Given the description of an element on the screen output the (x, y) to click on. 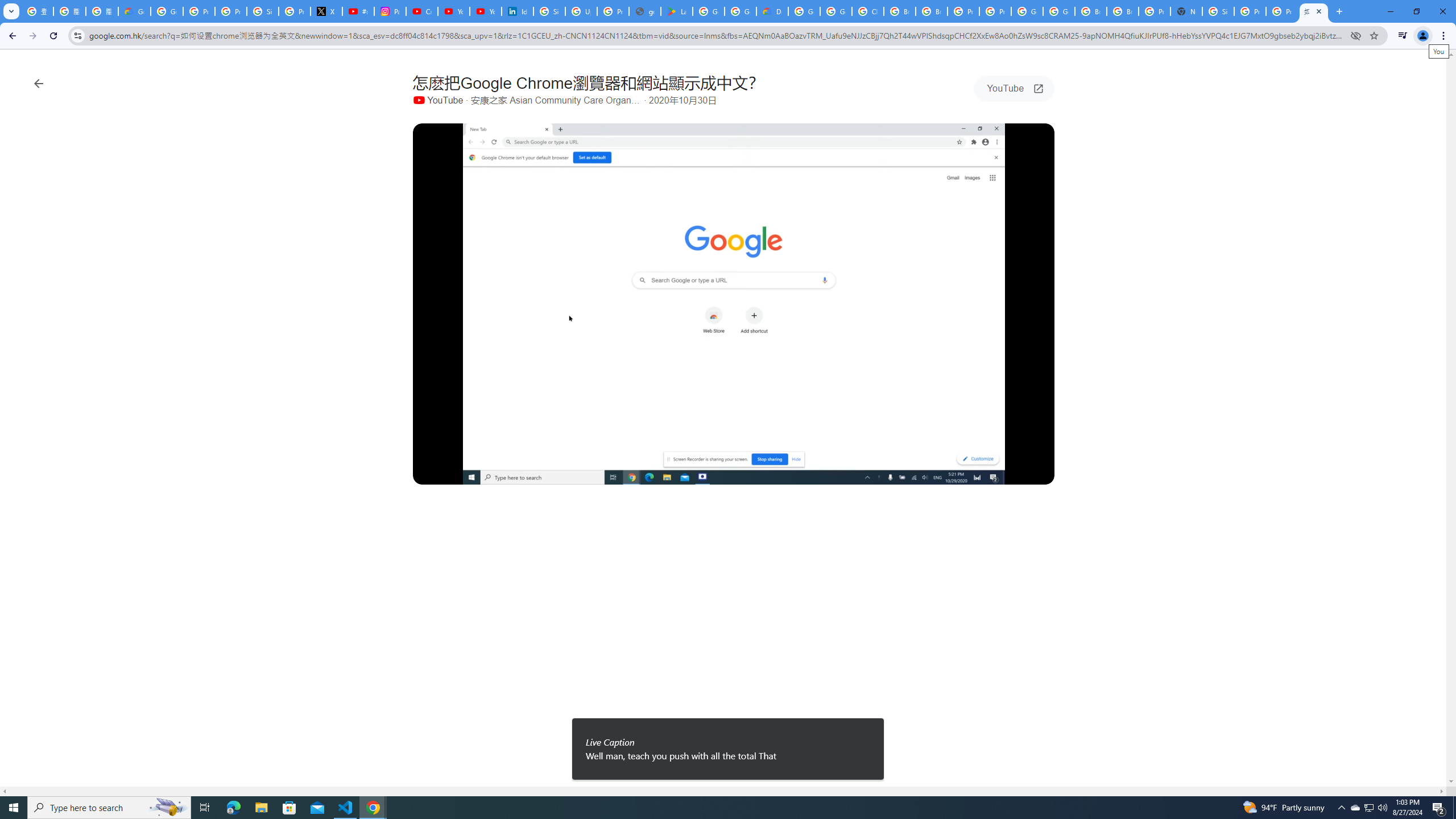
Browse Chrome as a guest - Computer - Google Chrome Help (899, 11)
Forward (32, 35)
Identity verification via Persona | LinkedIn Help (517, 11)
System (6, 6)
Sign in - Google Accounts (262, 11)
X (326, 11)
Browse Chrome as a guest - Computer - Google Chrome Help (1091, 11)
Address and search bar (715, 35)
